Given the description of an element on the screen output the (x, y) to click on. 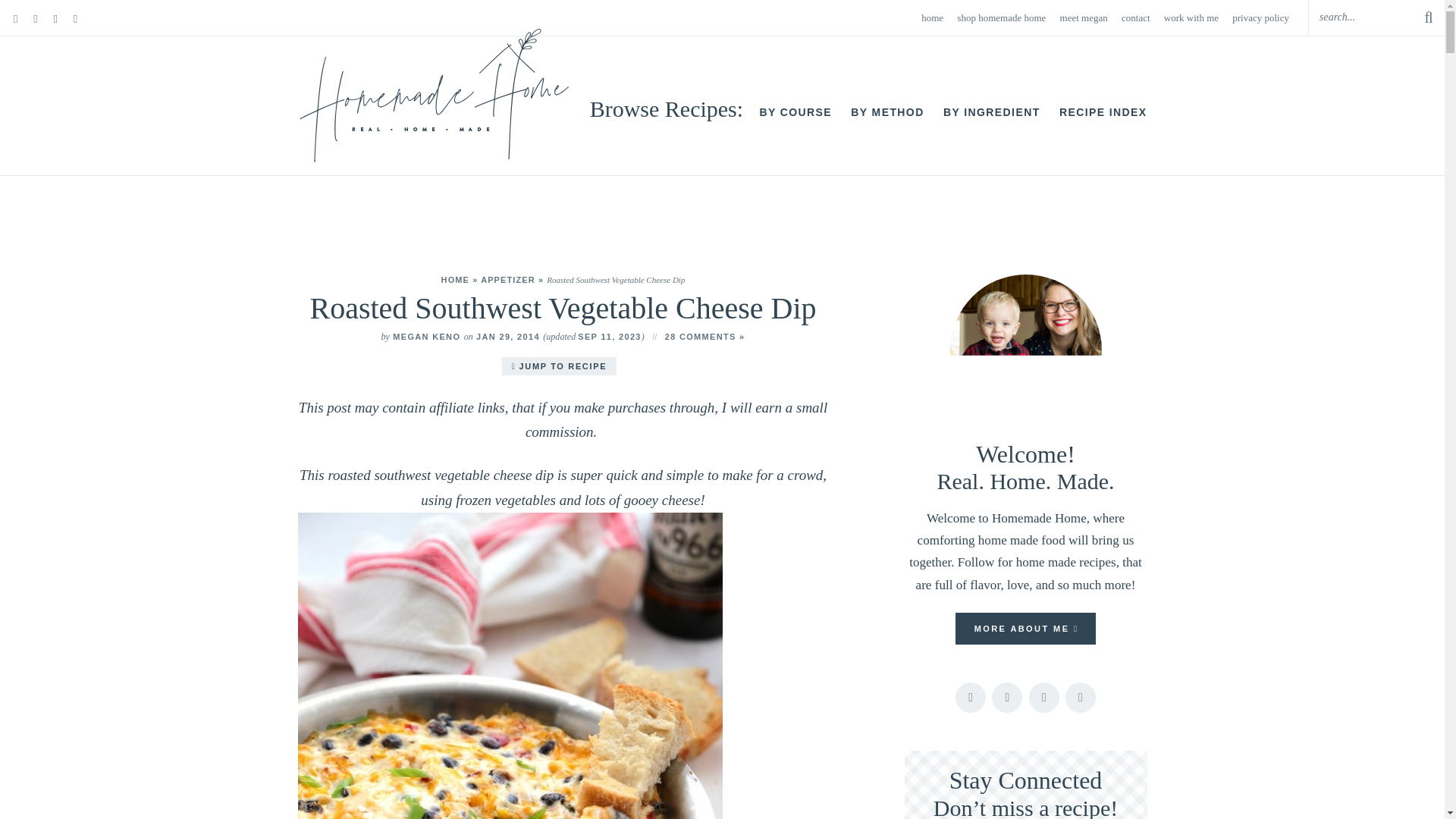
Homemade Home (433, 95)
shop homemade home (1000, 17)
meet megan (1083, 17)
privacy policy (1259, 17)
More About Me (1025, 349)
Browse Recipes: (669, 108)
contact (1135, 17)
home (932, 17)
work with me (1190, 17)
BY COURSE (795, 112)
